Given the description of an element on the screen output the (x, y) to click on. 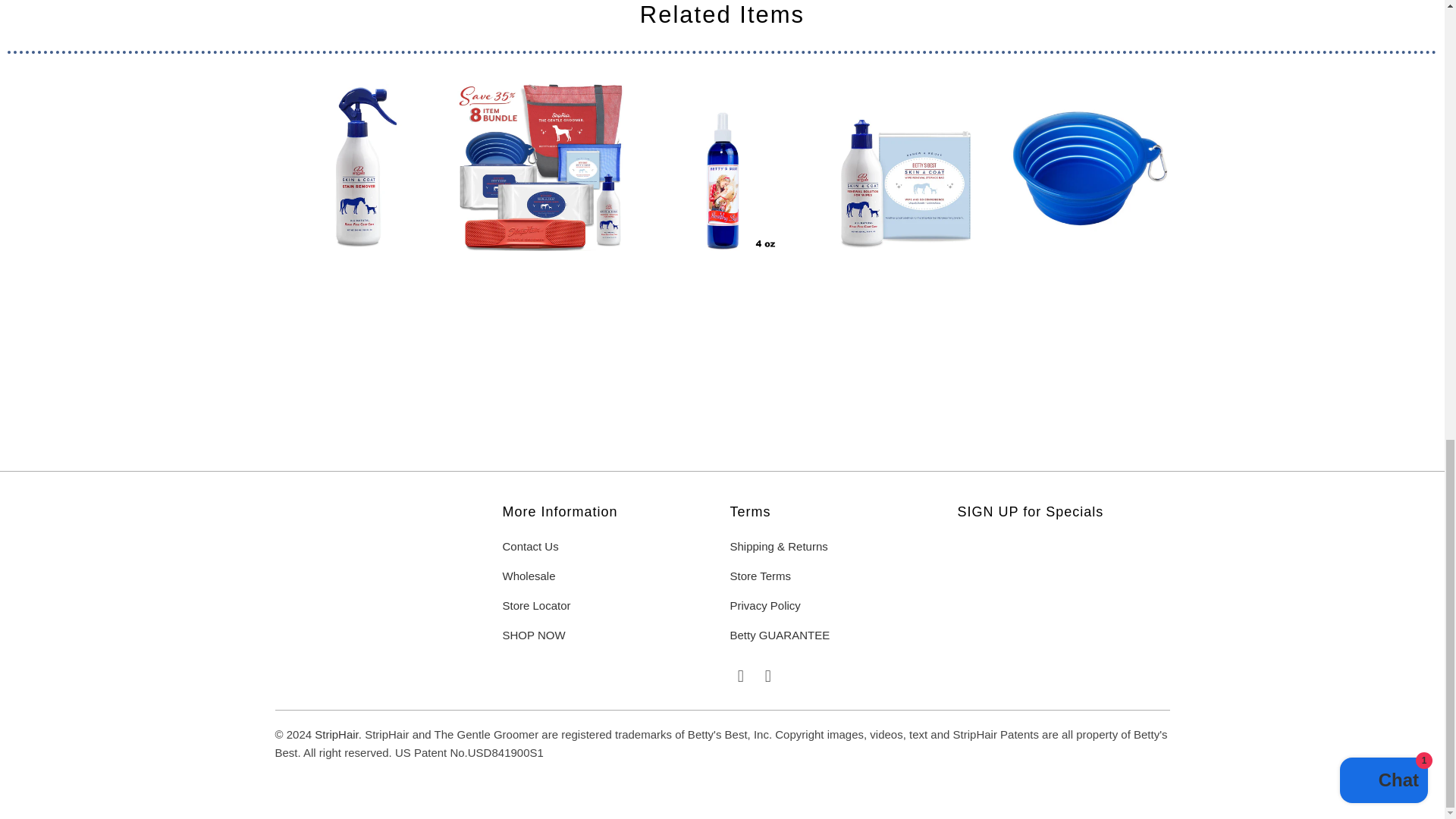
StripHair on Instagram (767, 676)
StripHair on Facebook (740, 676)
